Given the description of an element on the screen output the (x, y) to click on. 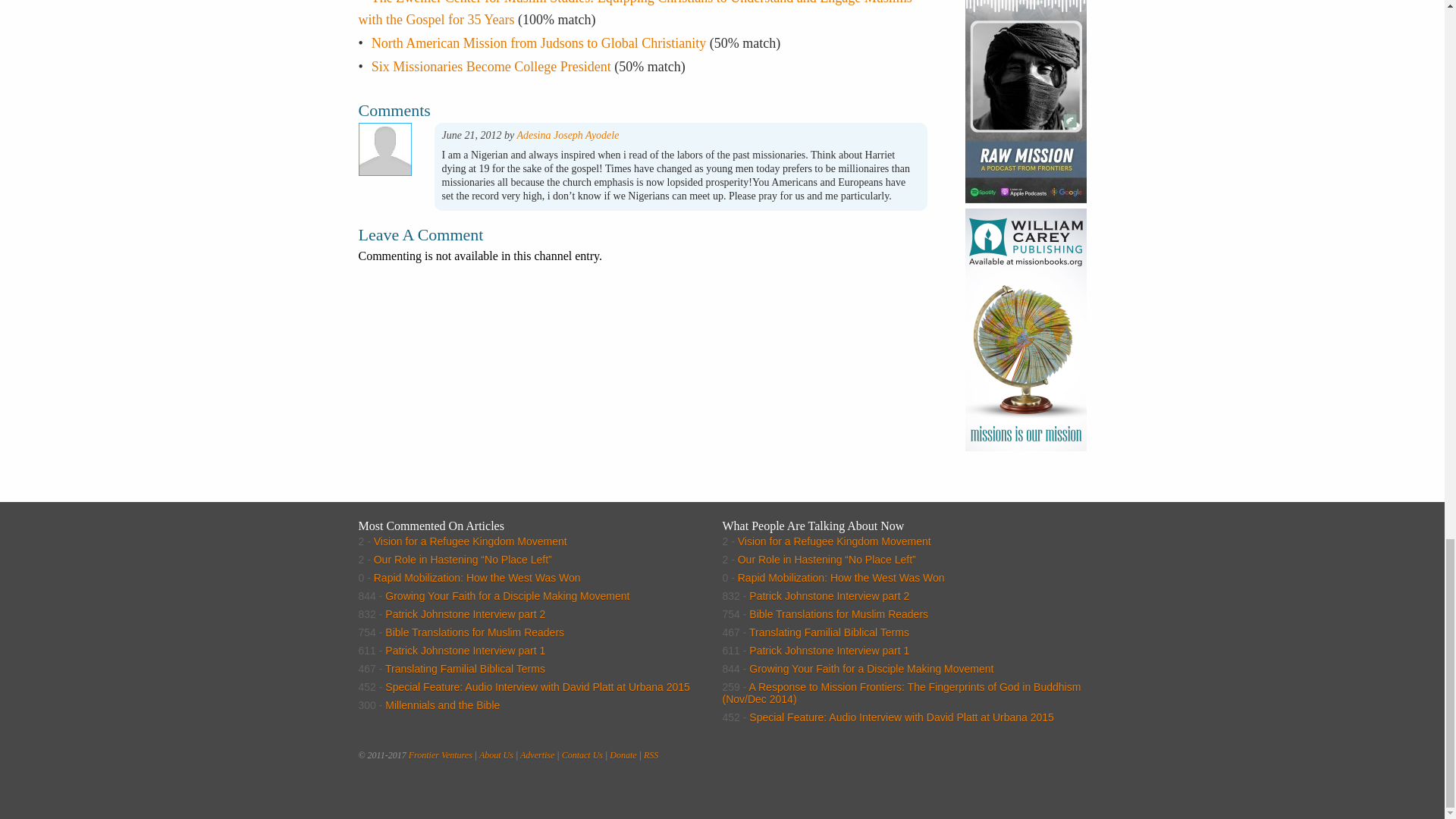
North American Mission from Judsons to Global Christianity (538, 43)
Adesina Joseph Ayodele (567, 134)
Six Missionaries Become College President (491, 66)
